Given the description of an element on the screen output the (x, y) to click on. 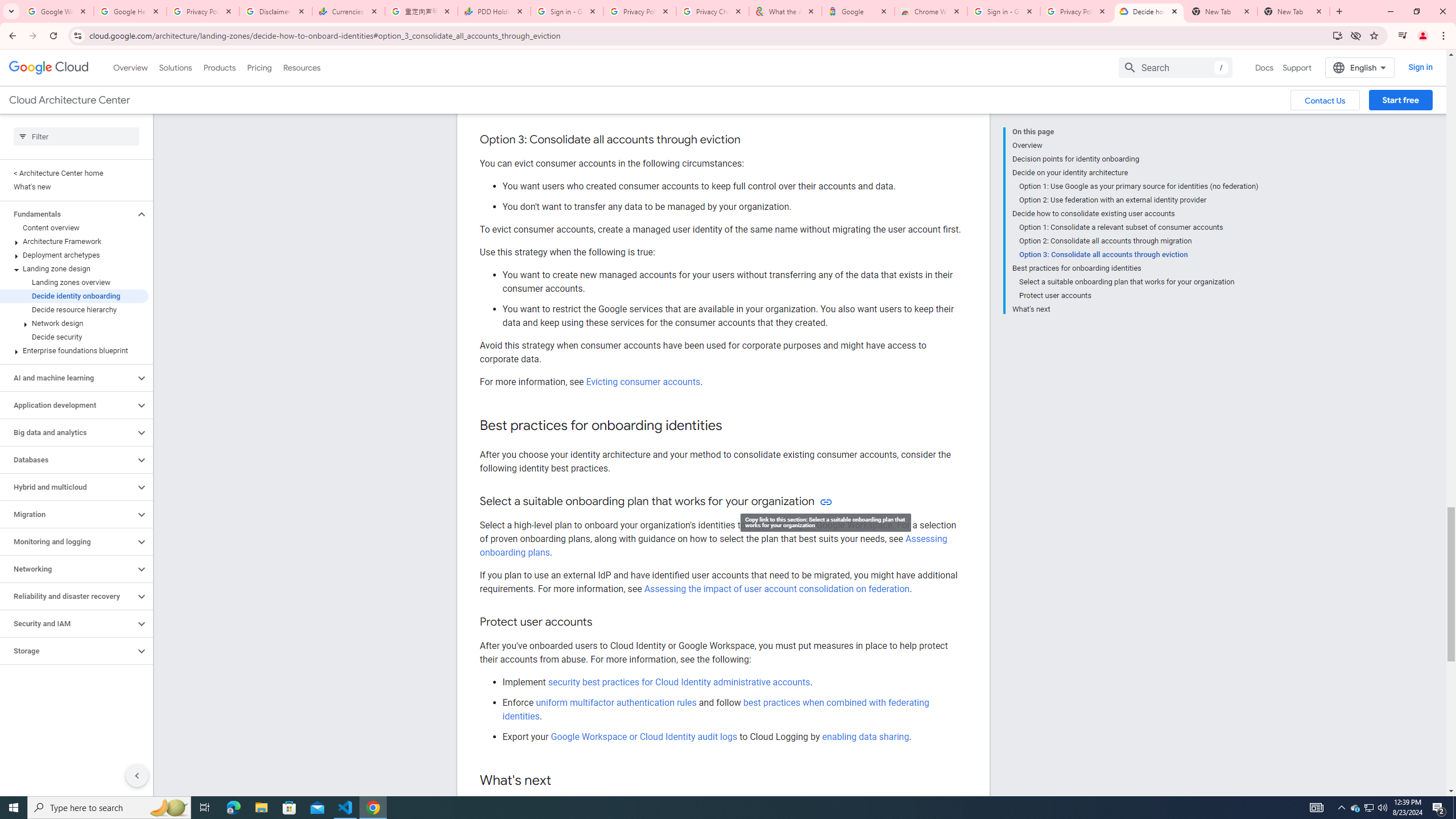
Decide identity onboarding (74, 296)
Migrating consumer accounts (646, 106)
Application development (67, 404)
< Architecture Center home (74, 173)
Security and IAM (67, 623)
best practices when combined with federating identities (715, 708)
enabling data sharing (865, 736)
Fundamentals (67, 214)
Install Google Cloud (1336, 35)
Decide how to consolidate existing user accounts (1134, 213)
Contact Us (1324, 100)
Sign in - Google Accounts (566, 11)
Google (857, 11)
Option 3: Consolidate all accounts through eviction (1138, 254)
